Given the description of an element on the screen output the (x, y) to click on. 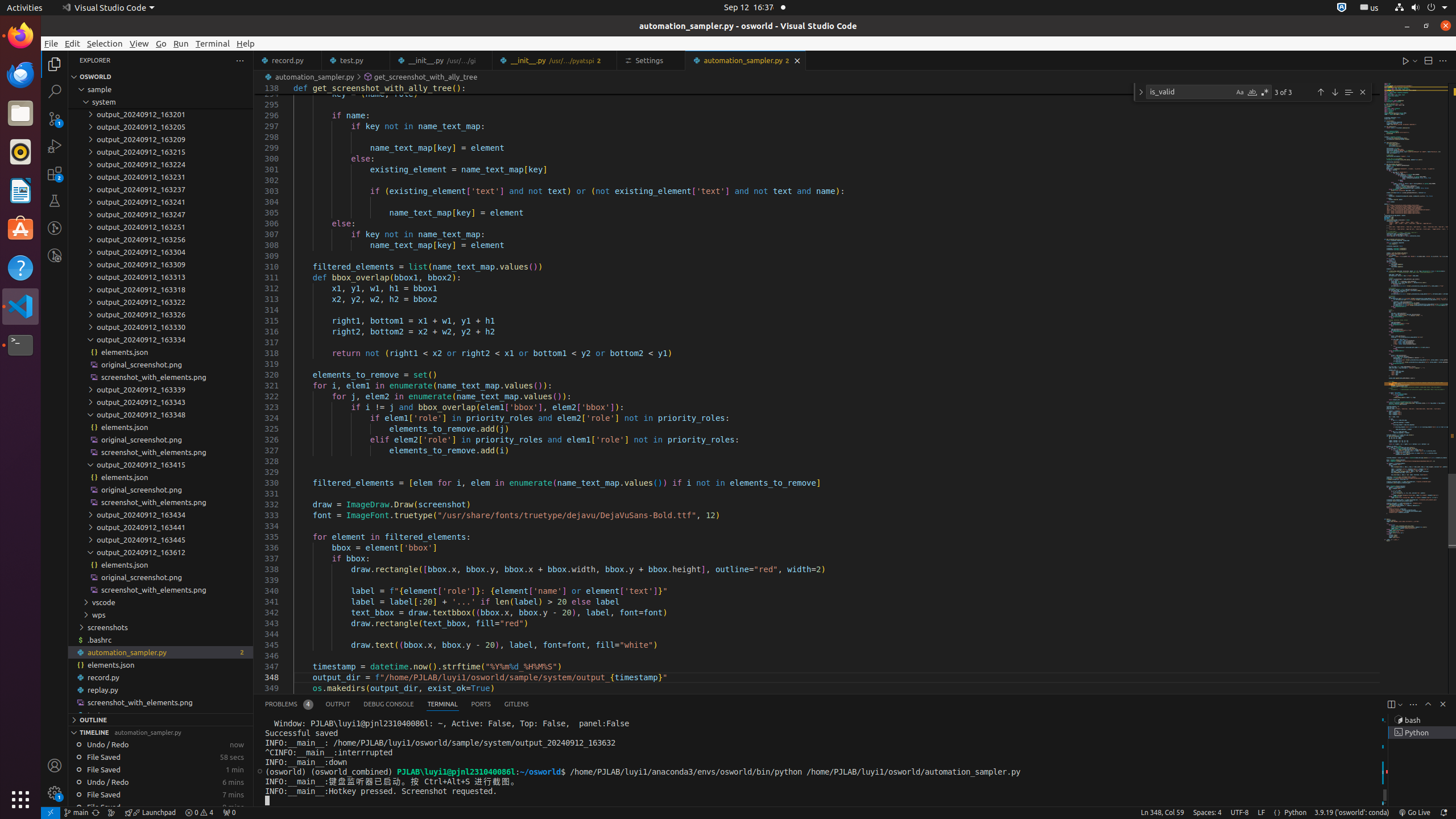
output_20240912_163205 Element type: tree-item (160, 126)
GitLens Inspect Element type: page-tab (54, 255)
output_20240912_163441 Element type: tree-item (160, 526)
